Given the description of an element on the screen output the (x, y) to click on. 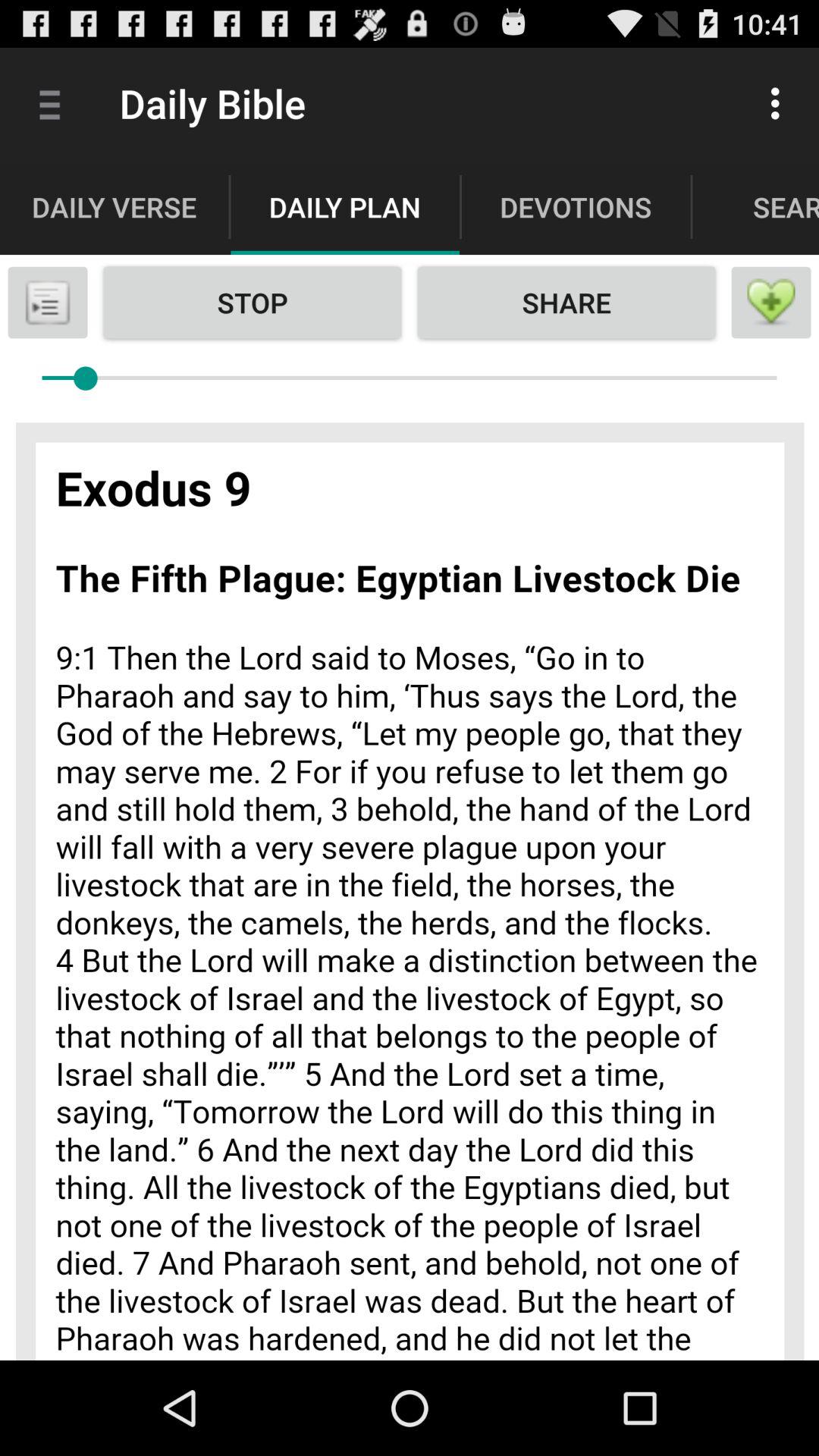
increment button (771, 302)
